Given the description of an element on the screen output the (x, y) to click on. 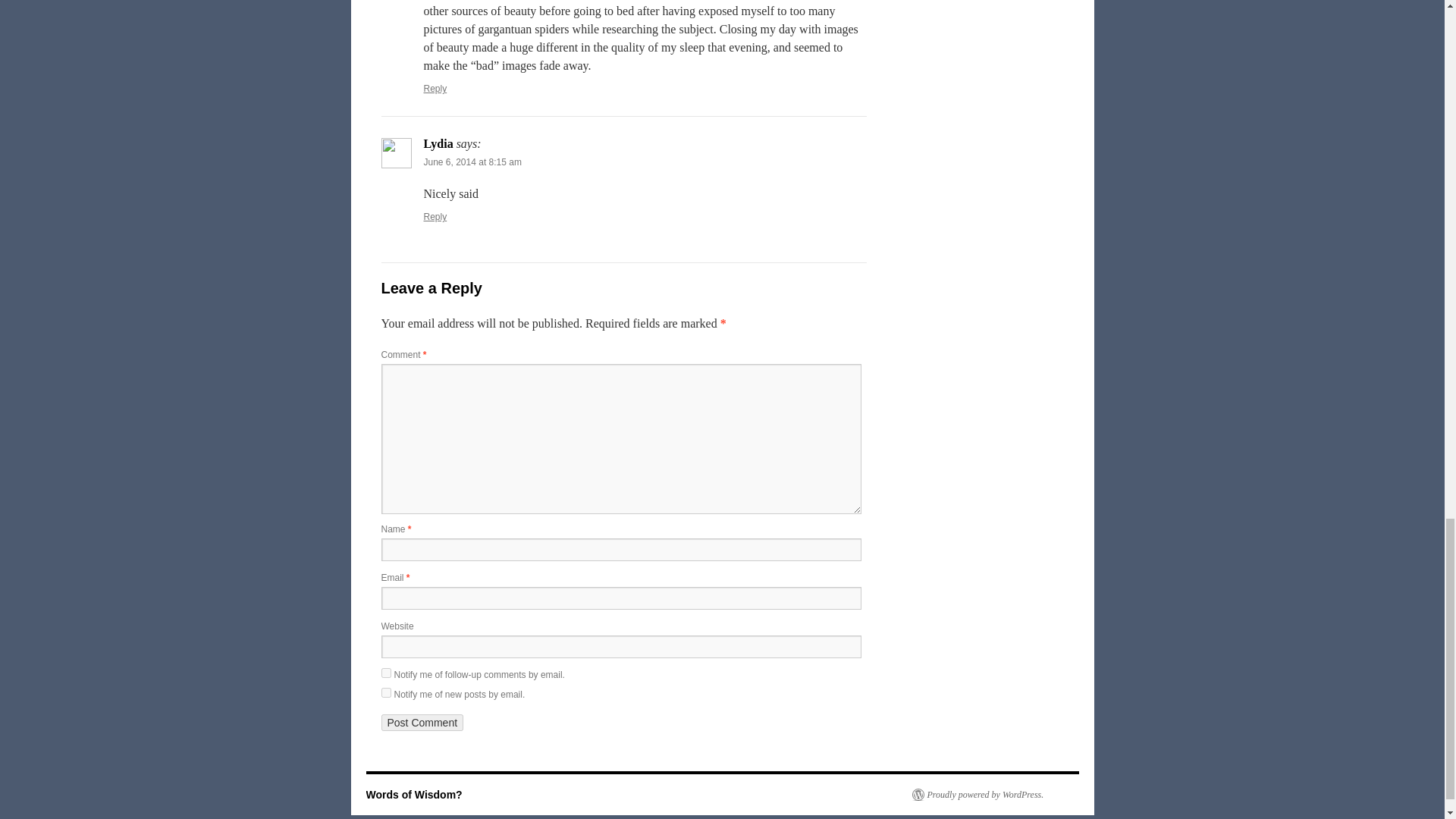
Reply (434, 216)
subscribe (385, 673)
subscribe (385, 692)
Reply (434, 88)
Post Comment (421, 722)
June 6, 2014 at 8:15 am (472, 162)
Post Comment (421, 722)
